Given the description of an element on the screen output the (x, y) to click on. 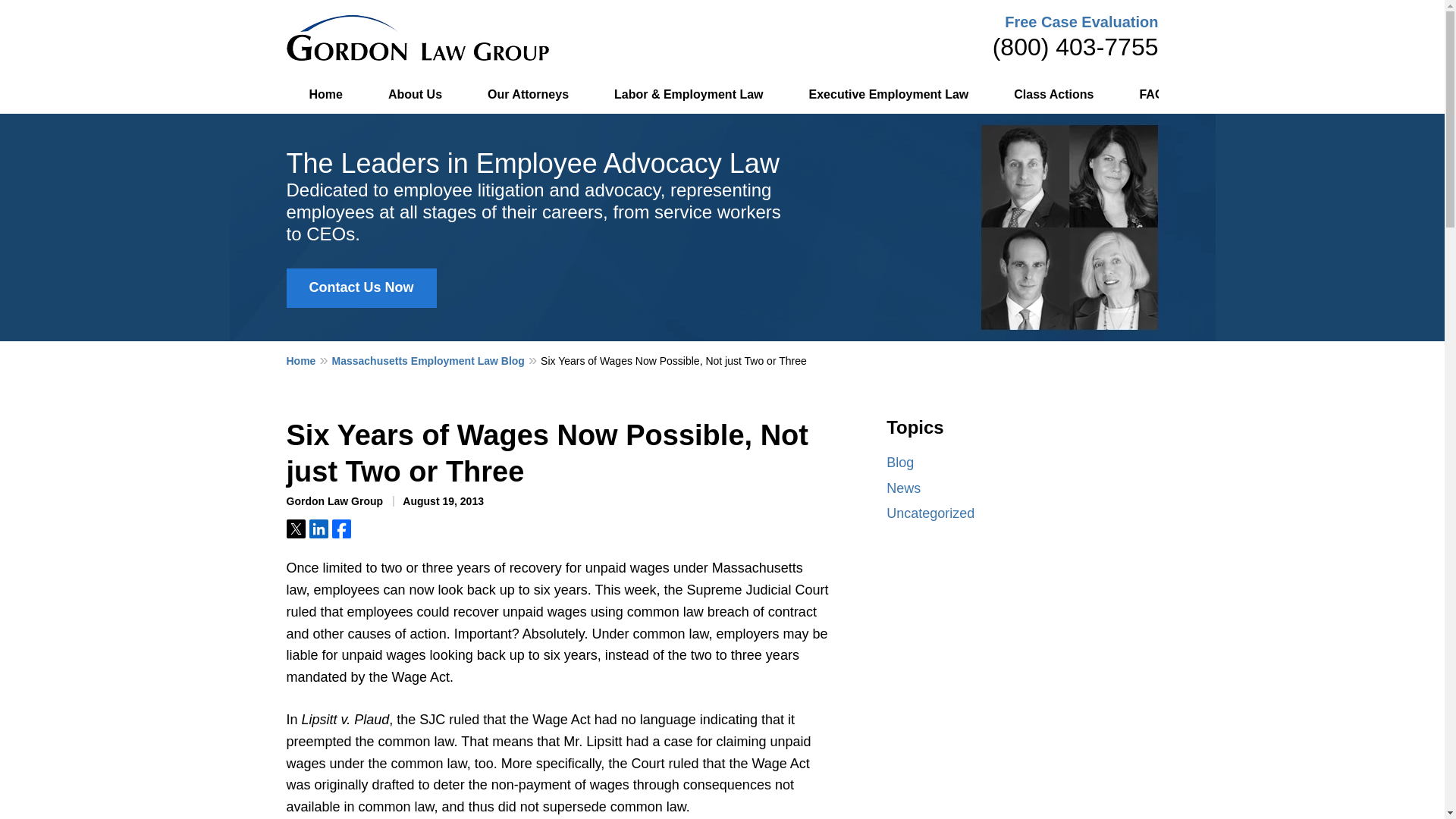
Home (325, 94)
Free Case Evaluation (1080, 21)
About Us (414, 94)
Our Attorneys (527, 94)
Executive Employment Law (888, 94)
